Given the description of an element on the screen output the (x, y) to click on. 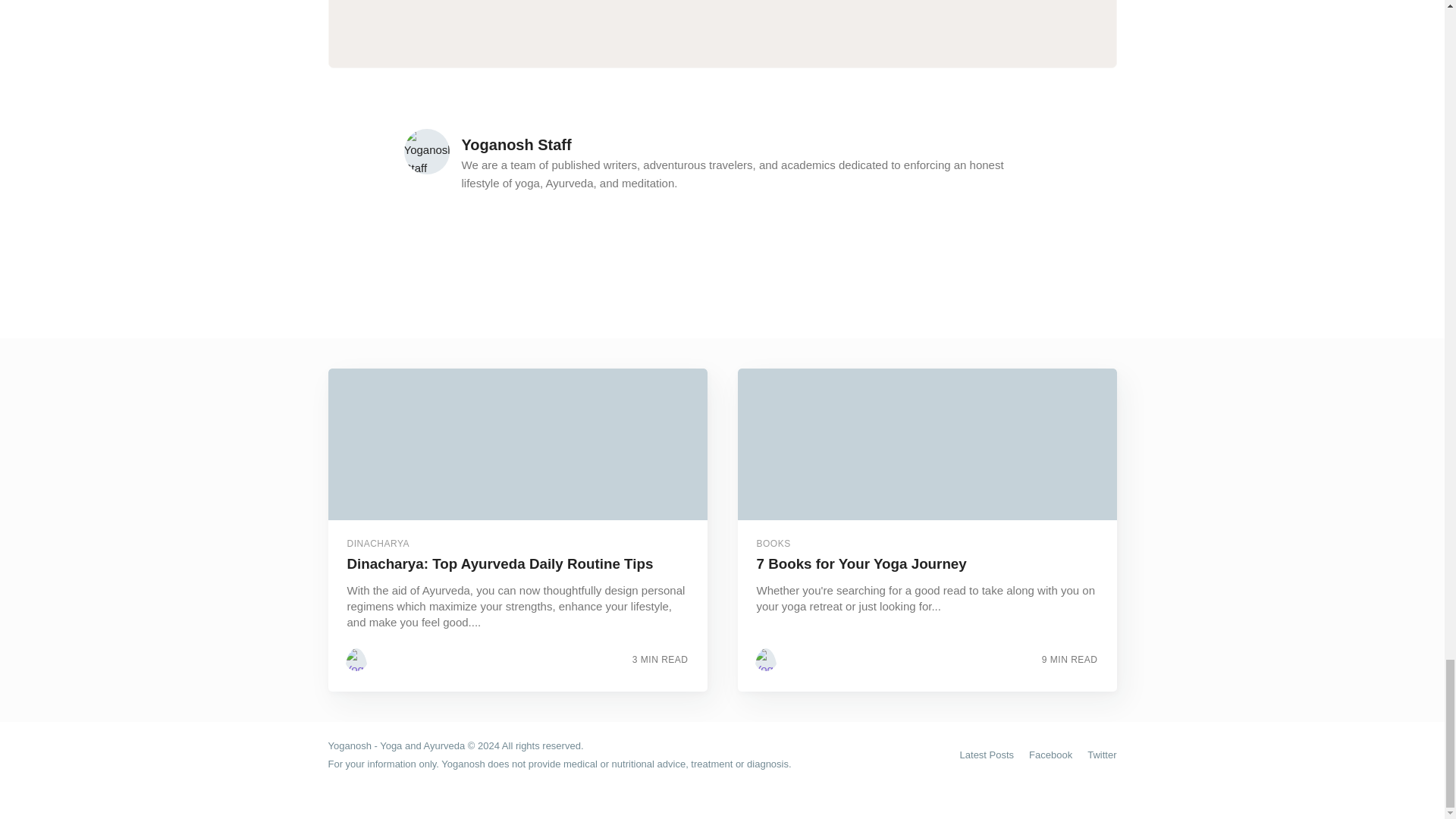
Yoganosh - Yoga and Ayurveda (395, 745)
Facebook (1050, 755)
Latest Posts (986, 755)
Twitter (1101, 755)
Yoganosh Staff (515, 144)
